Given the description of an element on the screen output the (x, y) to click on. 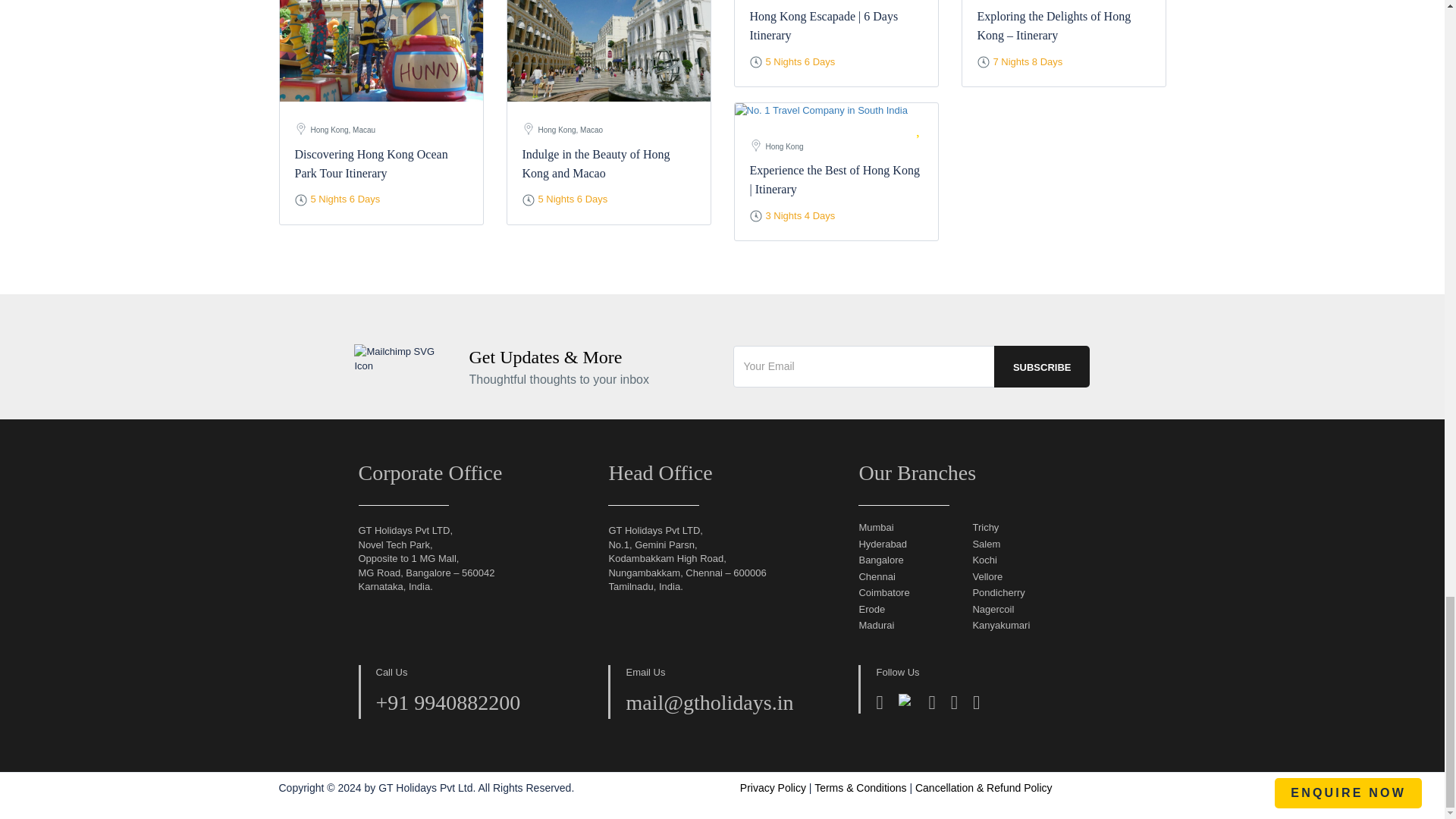
Subscribe (1042, 366)
